Given the description of an element on the screen output the (x, y) to click on. 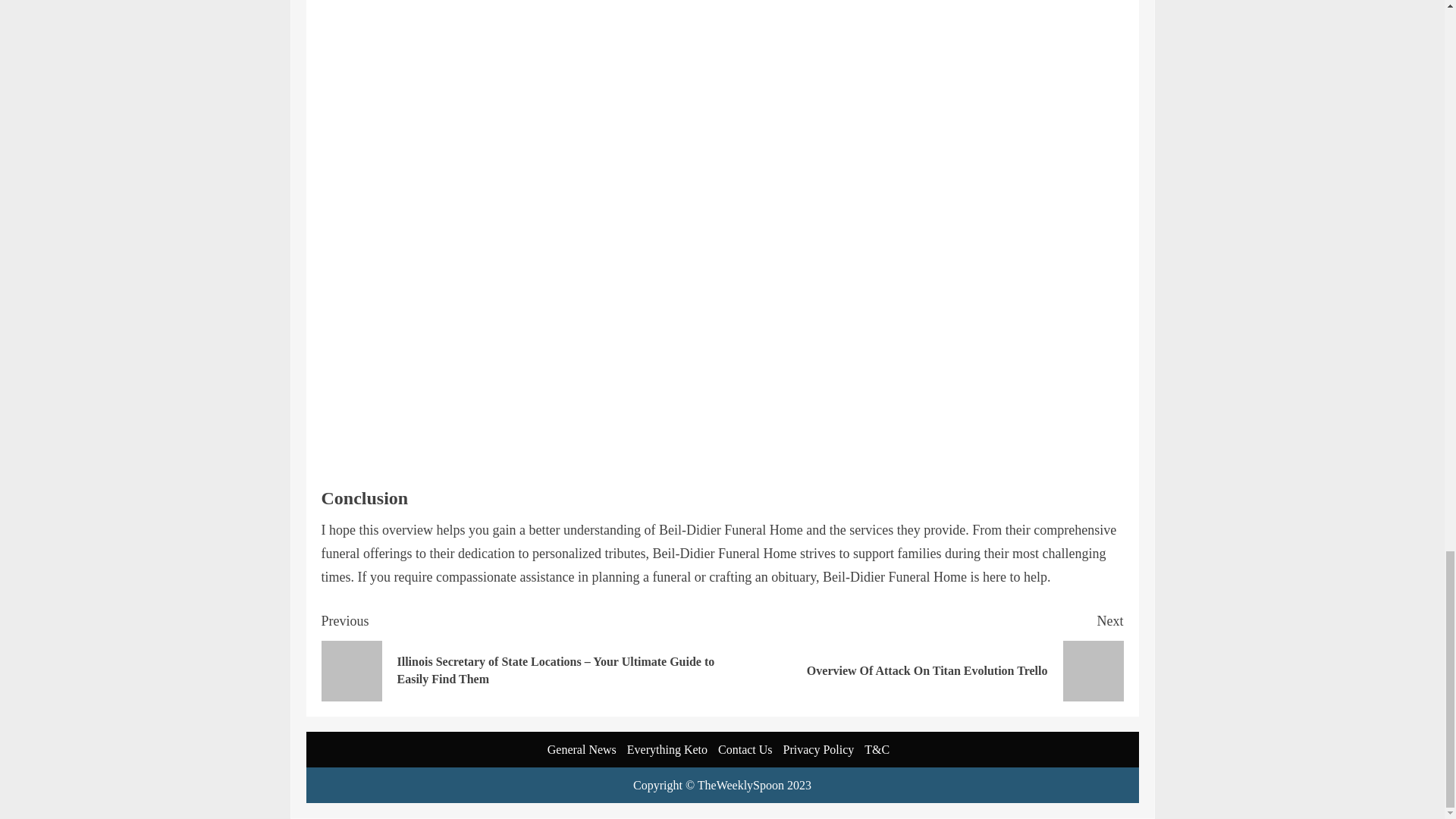
General News (922, 655)
Contact Us (581, 748)
Privacy Policy (745, 748)
Everything Keto (818, 748)
